Given the description of an element on the screen output the (x, y) to click on. 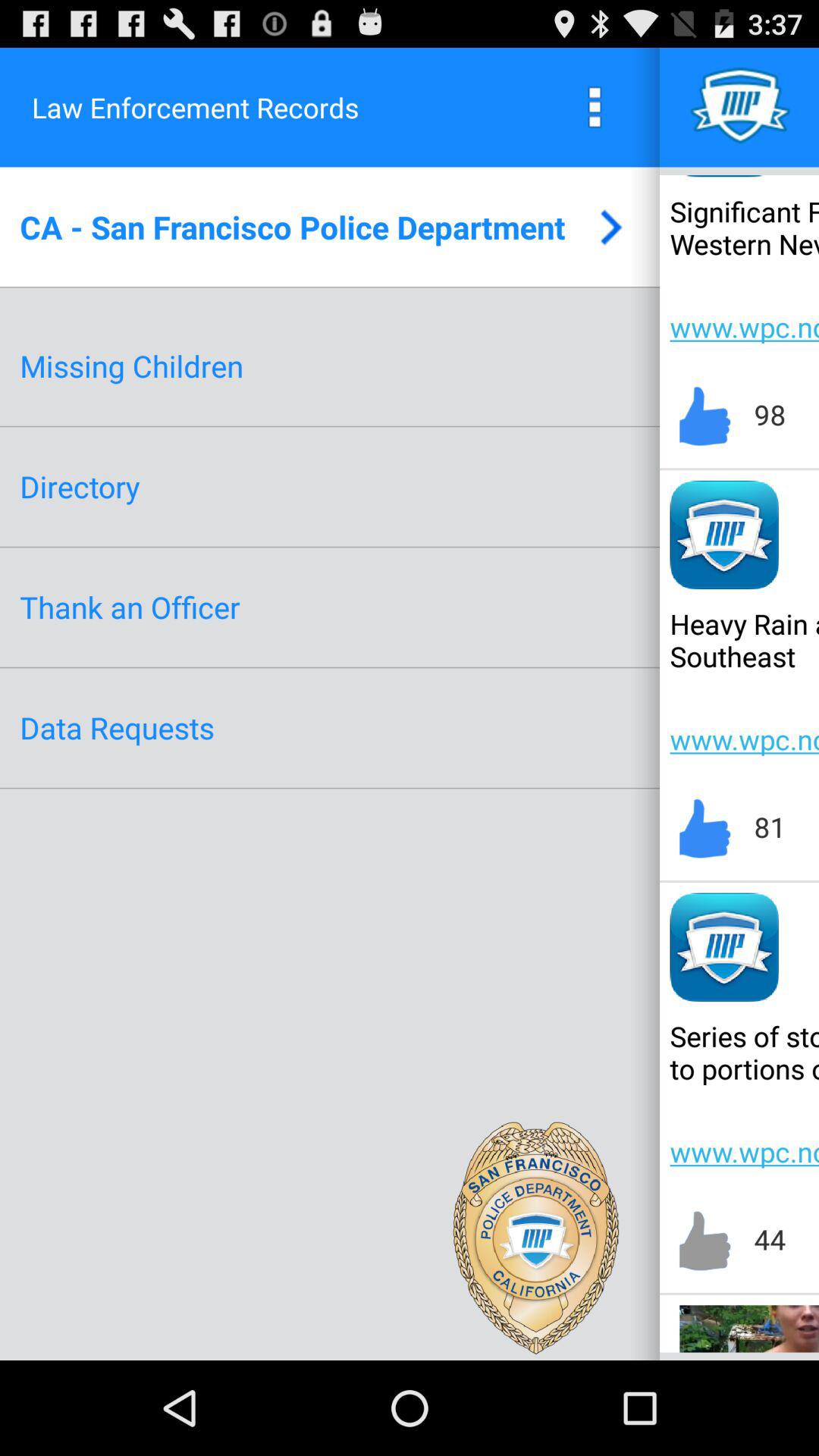
flip to directory app (79, 486)
